Given the description of an element on the screen output the (x, y) to click on. 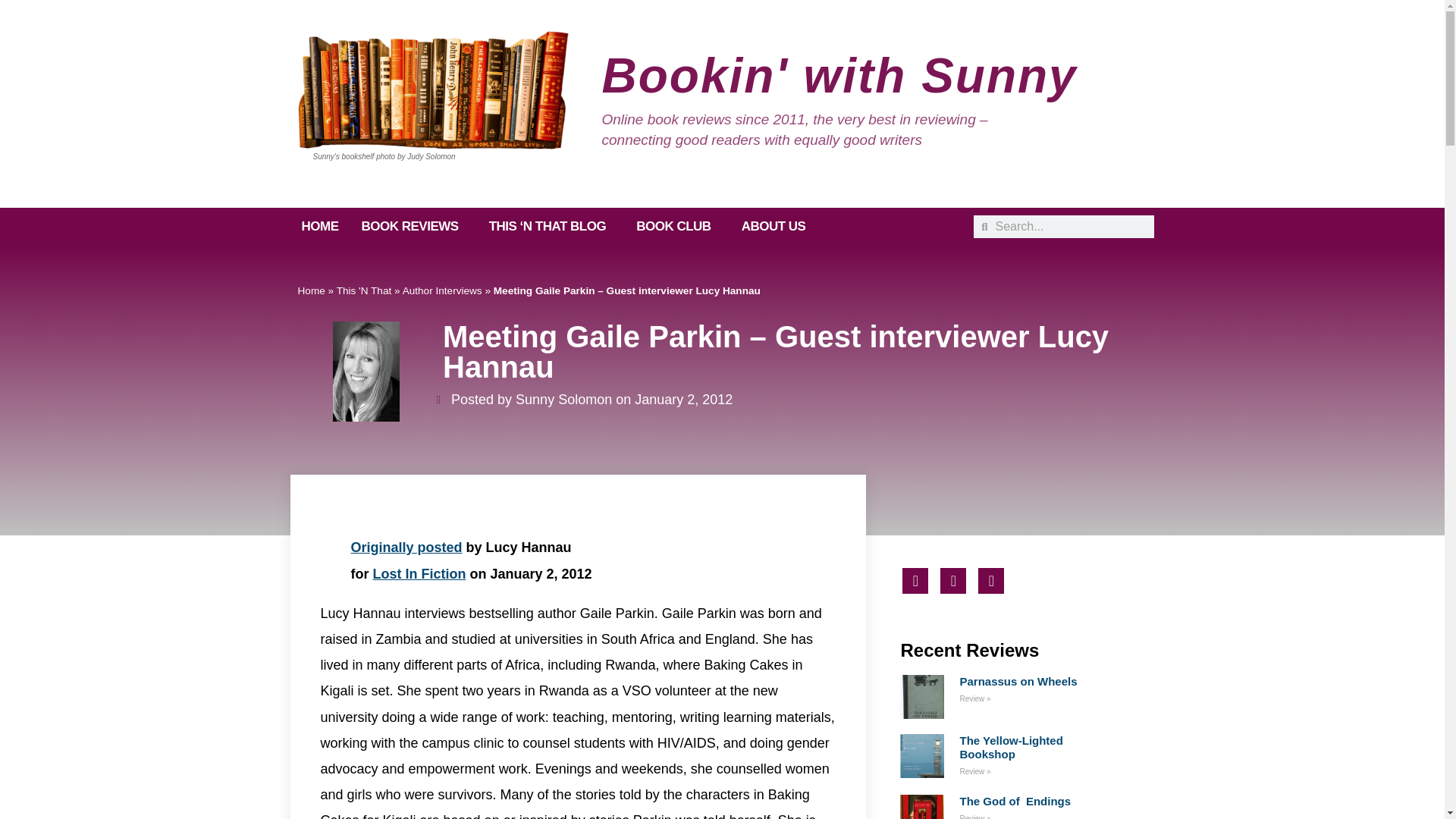
BOOK CLUB (676, 226)
Bookin' with Sunny (839, 75)
Original post (405, 547)
BOOK REVIEWS (413, 226)
HOME (319, 226)
Lost In Fiction (418, 573)
